Given the description of an element on the screen output the (x, y) to click on. 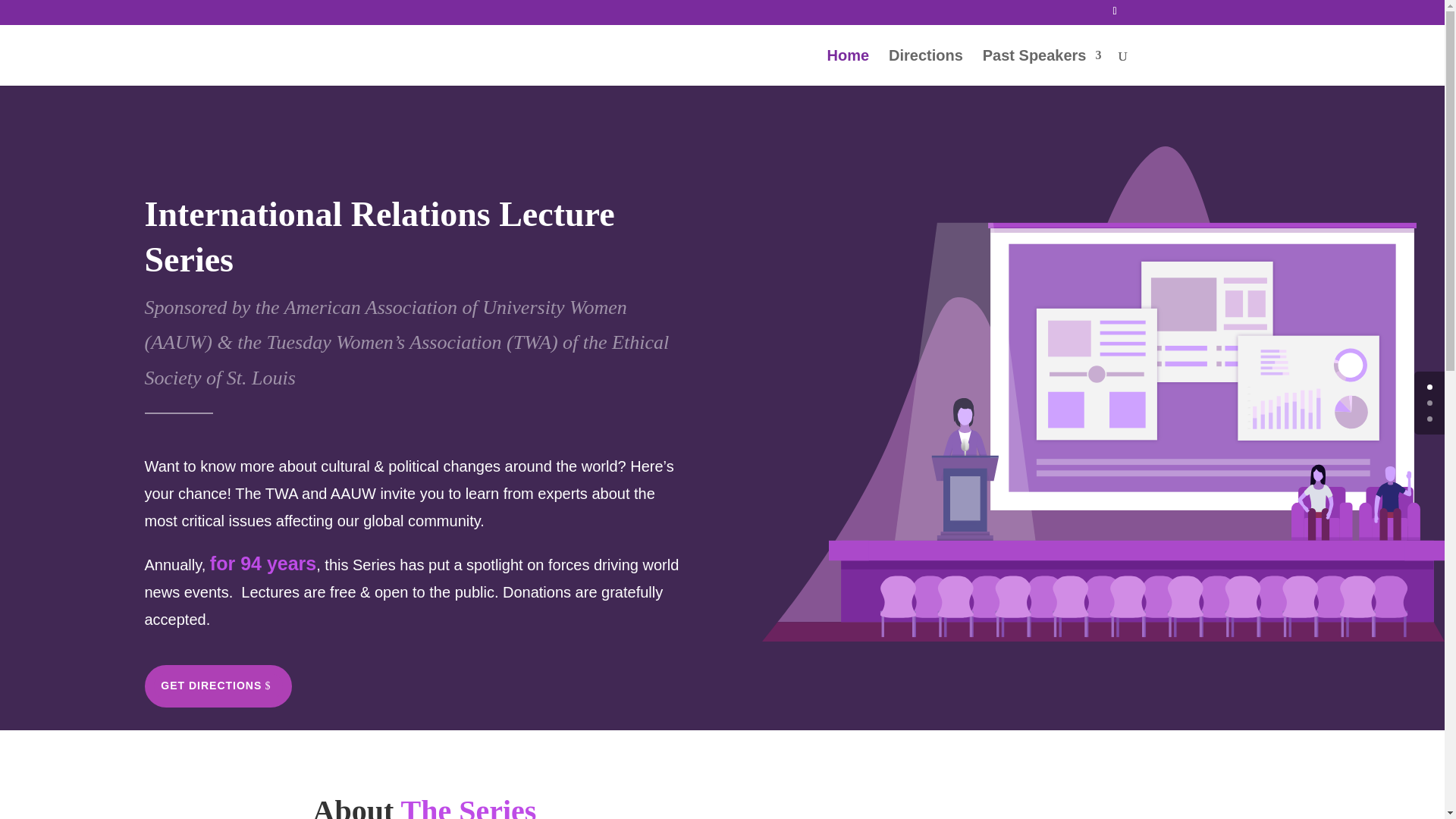
Home (848, 67)
Directions (925, 67)
Past Speakers (1042, 67)
GET DIRECTIONS (218, 686)
